Given the description of an element on the screen output the (x, y) to click on. 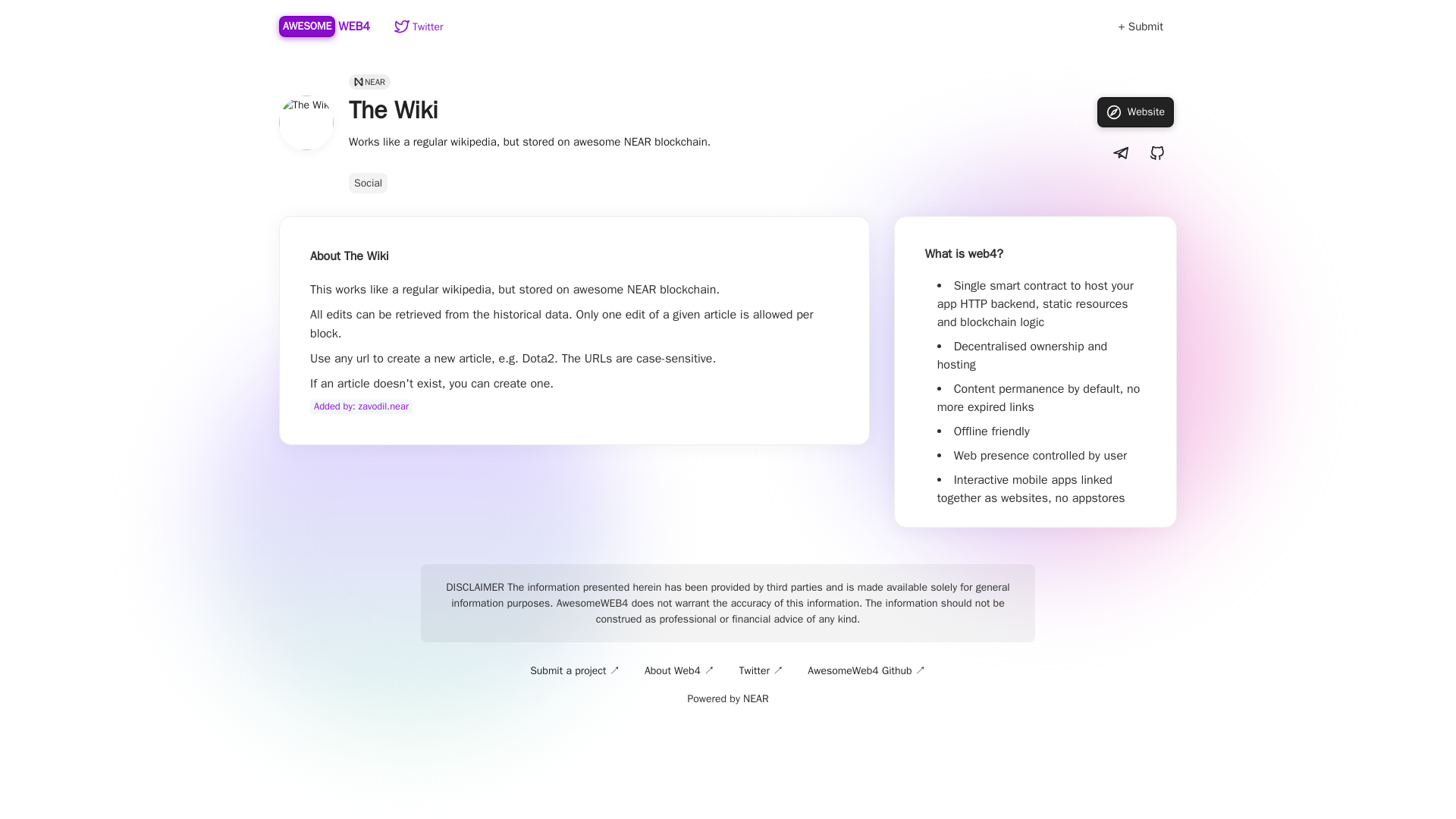
About Web4 (679, 670)
Website (1135, 112)
Follow Web4 on Twitter (760, 670)
github (1156, 153)
Social (368, 182)
NEAR (325, 26)
AwesomeWeb4 Github (755, 698)
Follow Web4 on Twitter (866, 670)
Twitter (419, 26)
Submit your project to AwesomeWEB4 (419, 26)
telegram (1140, 26)
